Given the description of an element on the screen output the (x, y) to click on. 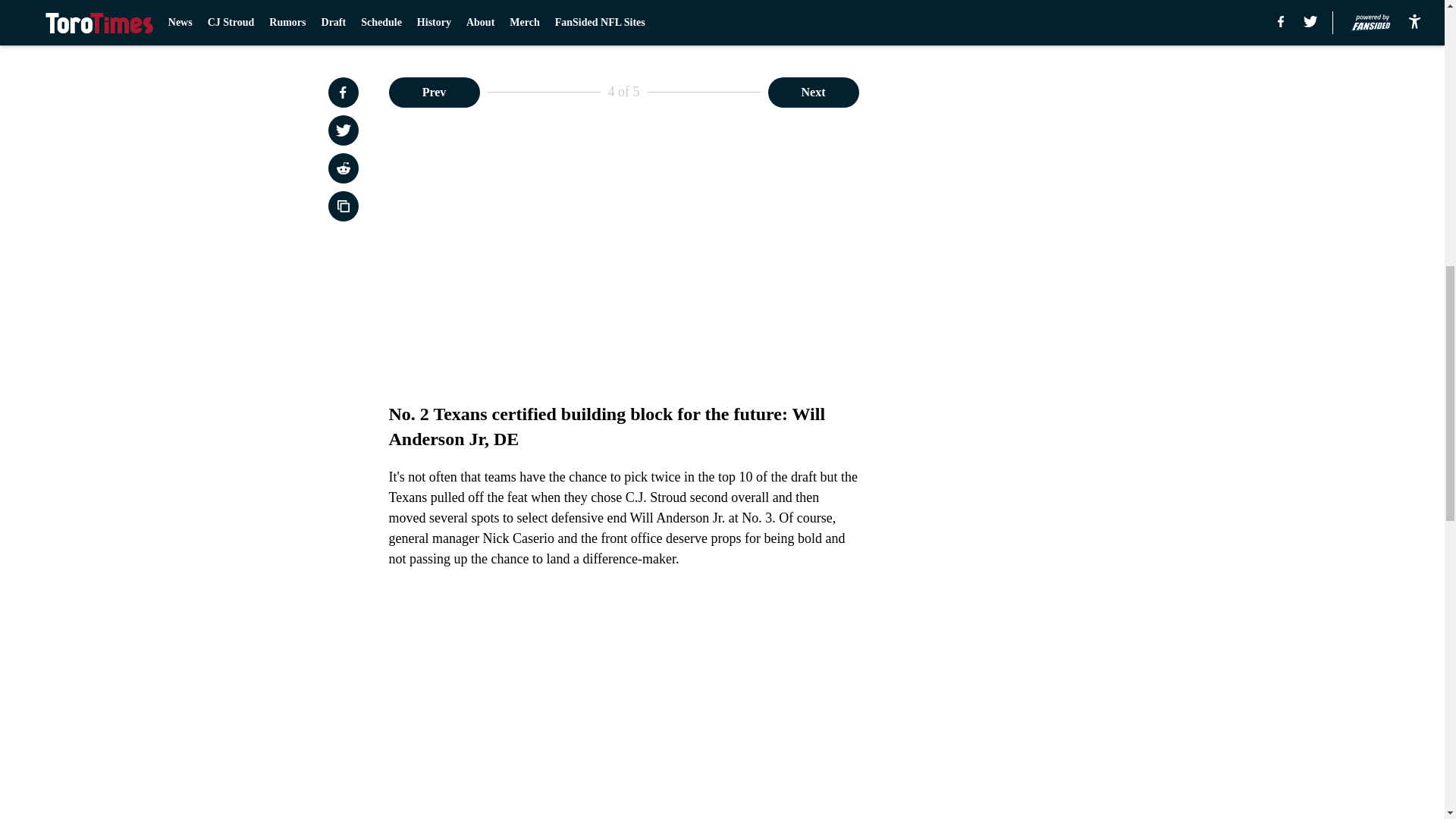
Houston Texans (721, 7)
Prev (433, 91)
Next (813, 91)
